Given the description of an element on the screen output the (x, y) to click on. 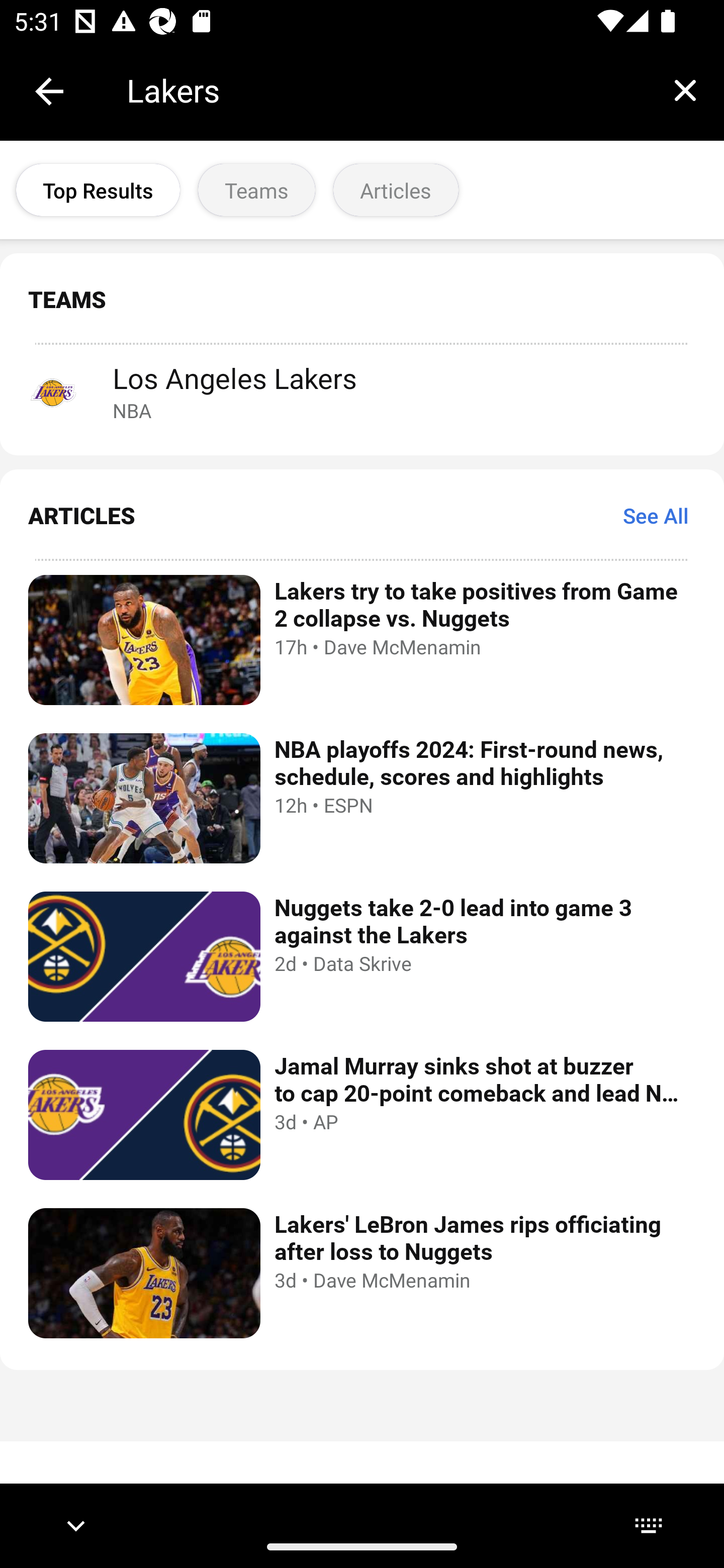
Collapse (49, 91)
Clear query (685, 89)
Lakers (386, 90)
Top Results (97, 190)
Teams (256, 190)
Articles (395, 190)
Los Angeles Lakers : NBA Los Angeles Lakers NBA (362, 390)
See All (655, 514)
